Given the description of an element on the screen output the (x, y) to click on. 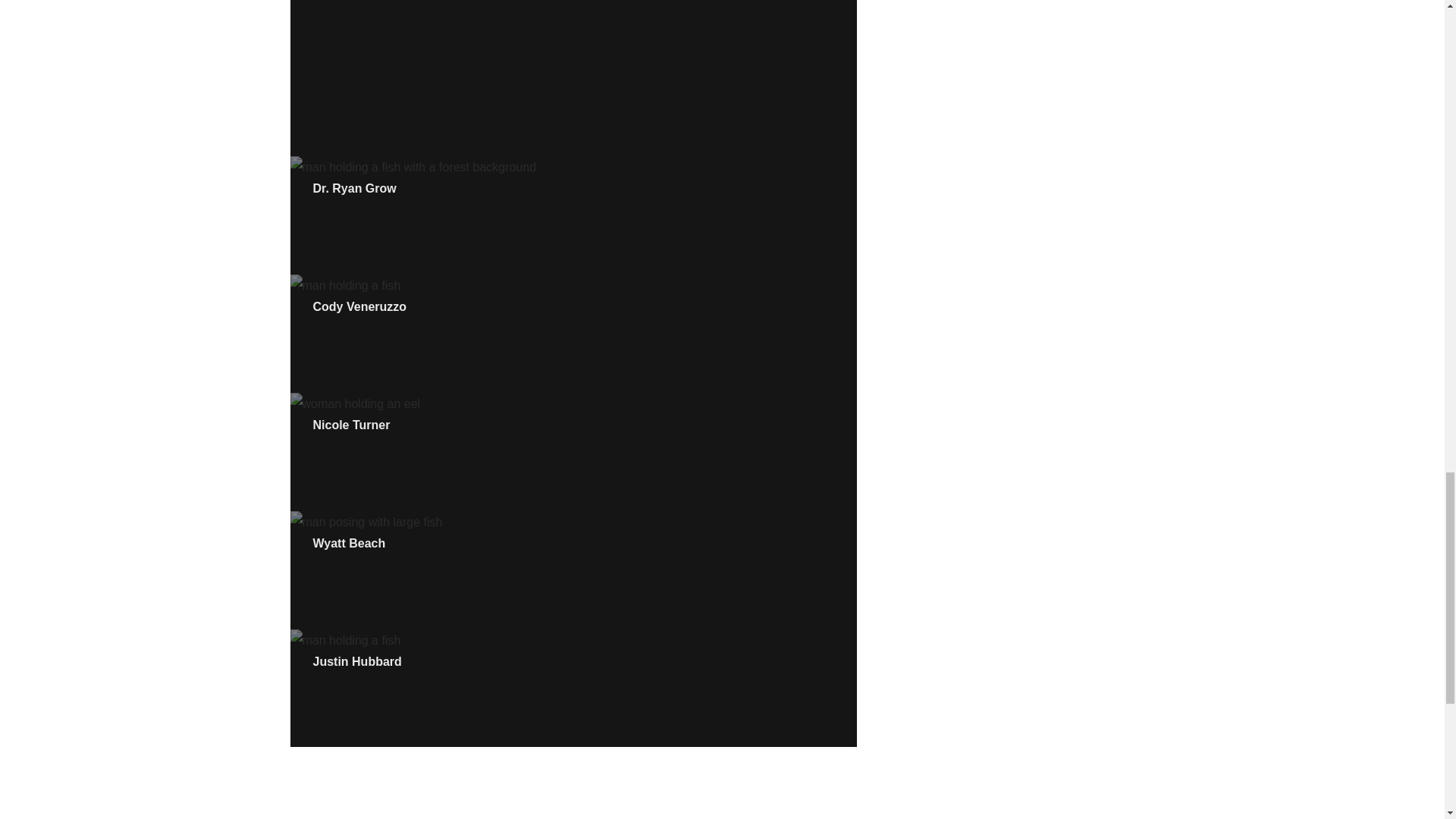
Cody Veneruzzo (359, 306)
Wyatt Beach (349, 543)
Nicole Turner (351, 424)
Dr. Ryan Grow (354, 187)
Justin Hubbard (357, 661)
